Given the description of an element on the screen output the (x, y) to click on. 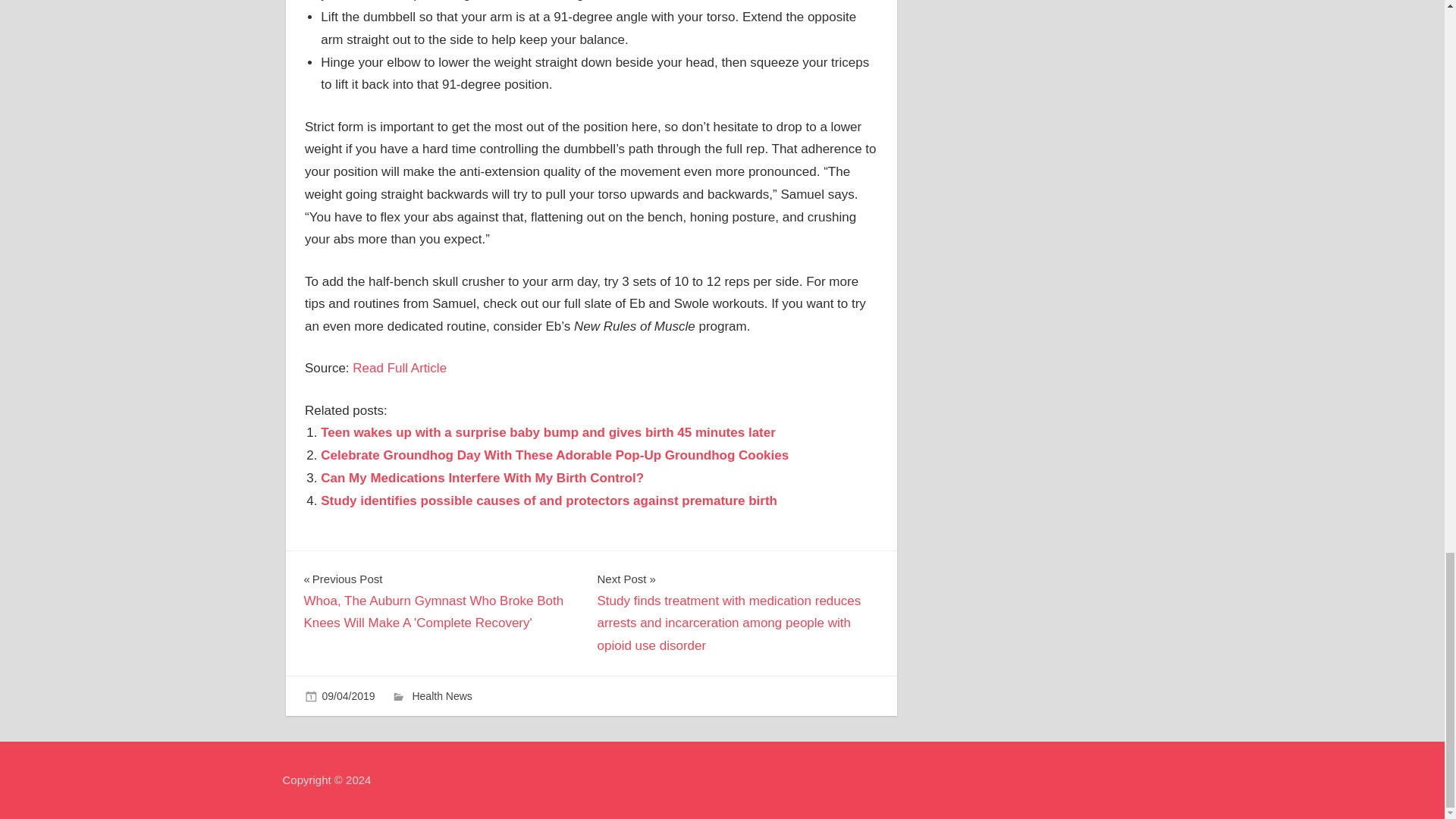
Health News (441, 695)
Can My Medications Interfere With My Birth Control? (481, 477)
Read Full Article (399, 368)
Can My Medications Interfere With My Birth Control? (481, 477)
6:08 pm (347, 695)
